Given the description of an element on the screen output the (x, y) to click on. 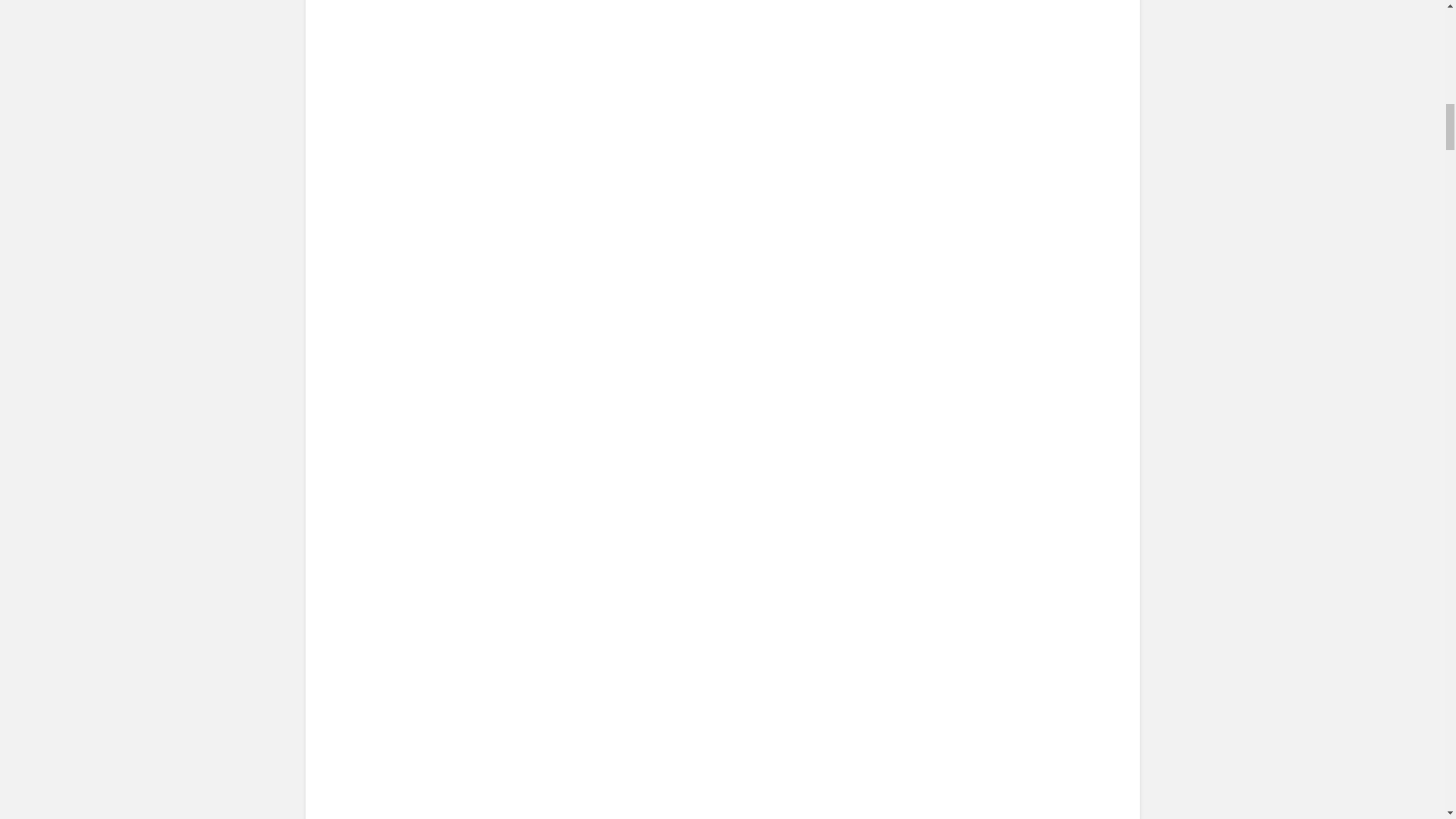
4. Meet the historian (463, 572)
3. Gathering ideas (465, 53)
